Given the description of an element on the screen output the (x, y) to click on. 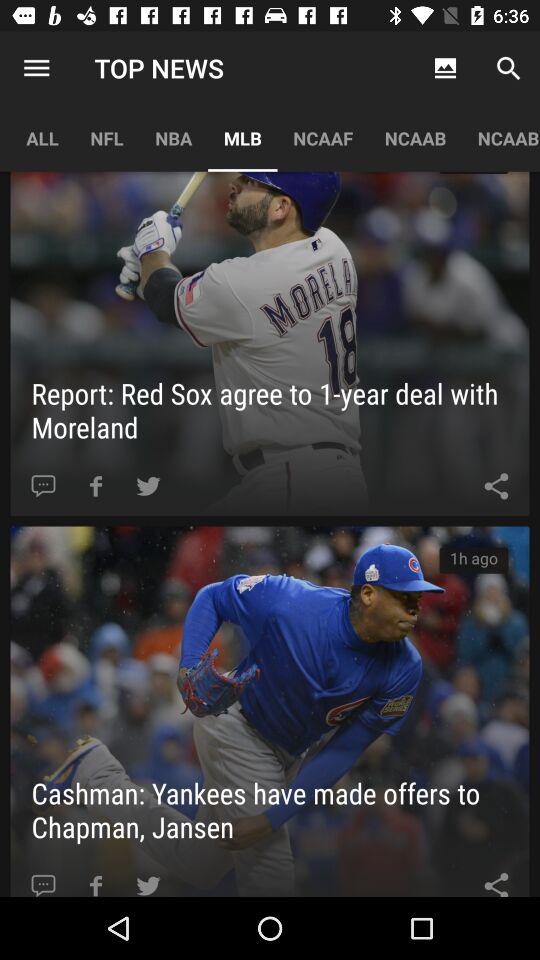
turn on the item to the right of all app (106, 138)
